Given the description of an element on the screen output the (x, y) to click on. 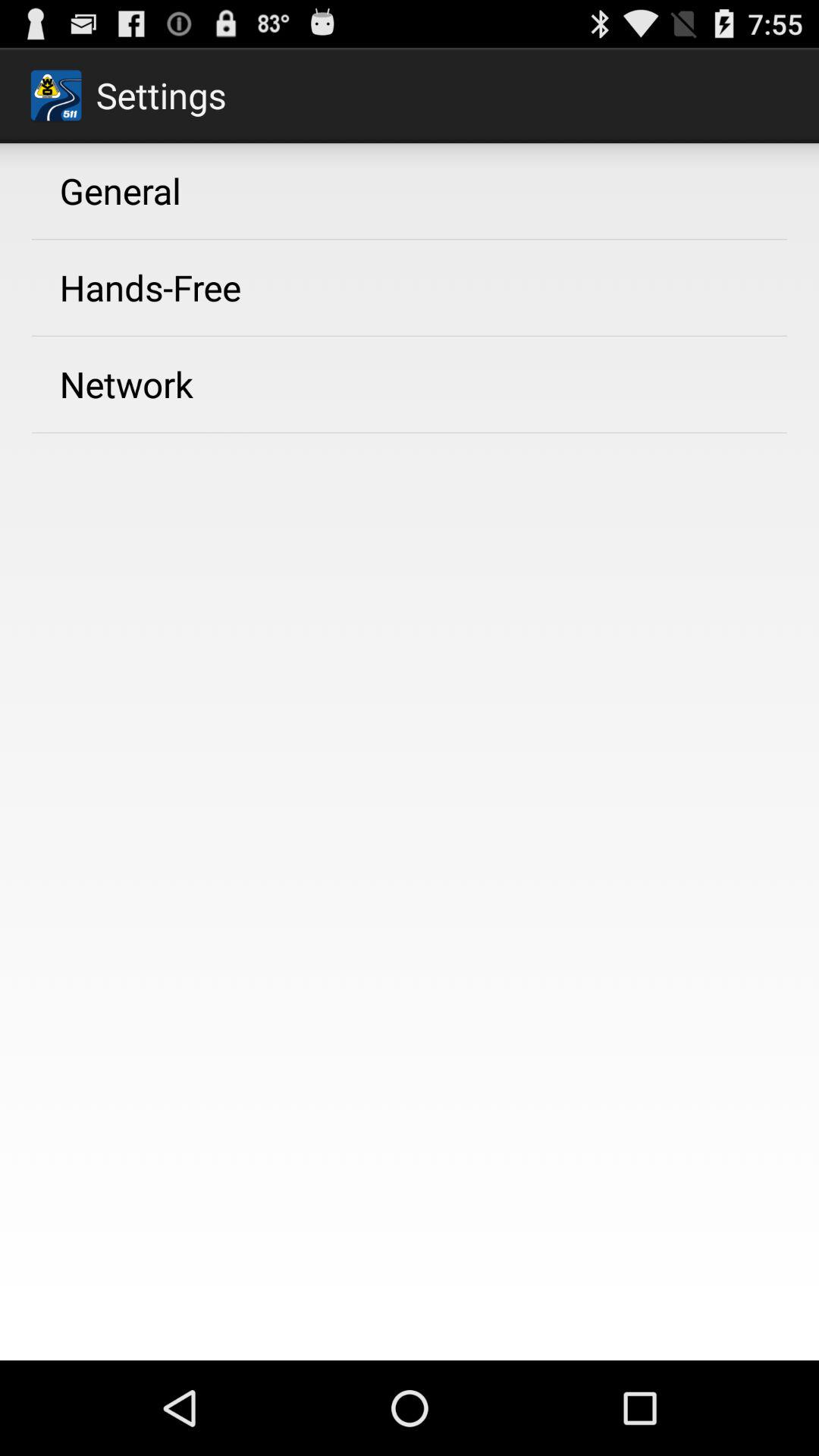
turn on the hands-free app (150, 287)
